Given the description of an element on the screen output the (x, y) to click on. 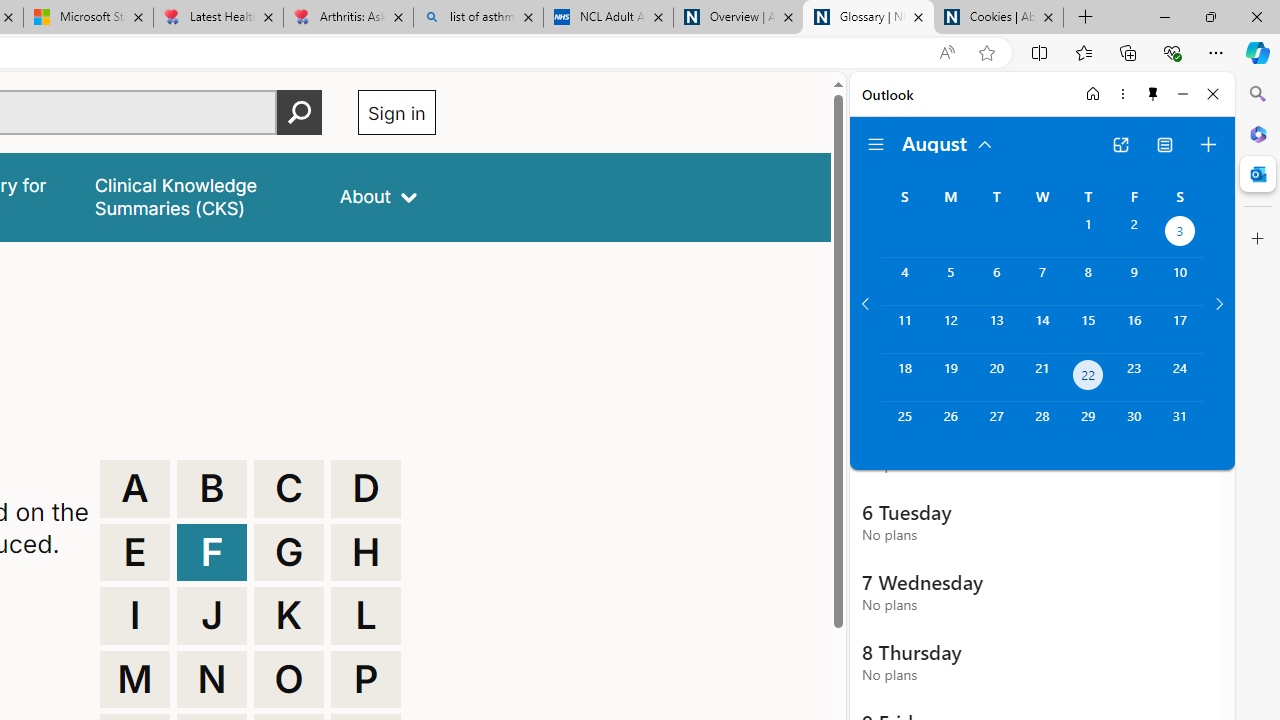
Tuesday, August 27, 2024.  (996, 425)
C (289, 488)
Glossary | NICE (868, 17)
B (212, 488)
Friday, August 23, 2024.  (1134, 377)
C (289, 488)
View Switcher. Current view is Agenda view (1165, 144)
Thursday, August 29, 2024.  (1088, 425)
A (134, 488)
G (289, 551)
H (365, 551)
